Given the description of an element on the screen output the (x, y) to click on. 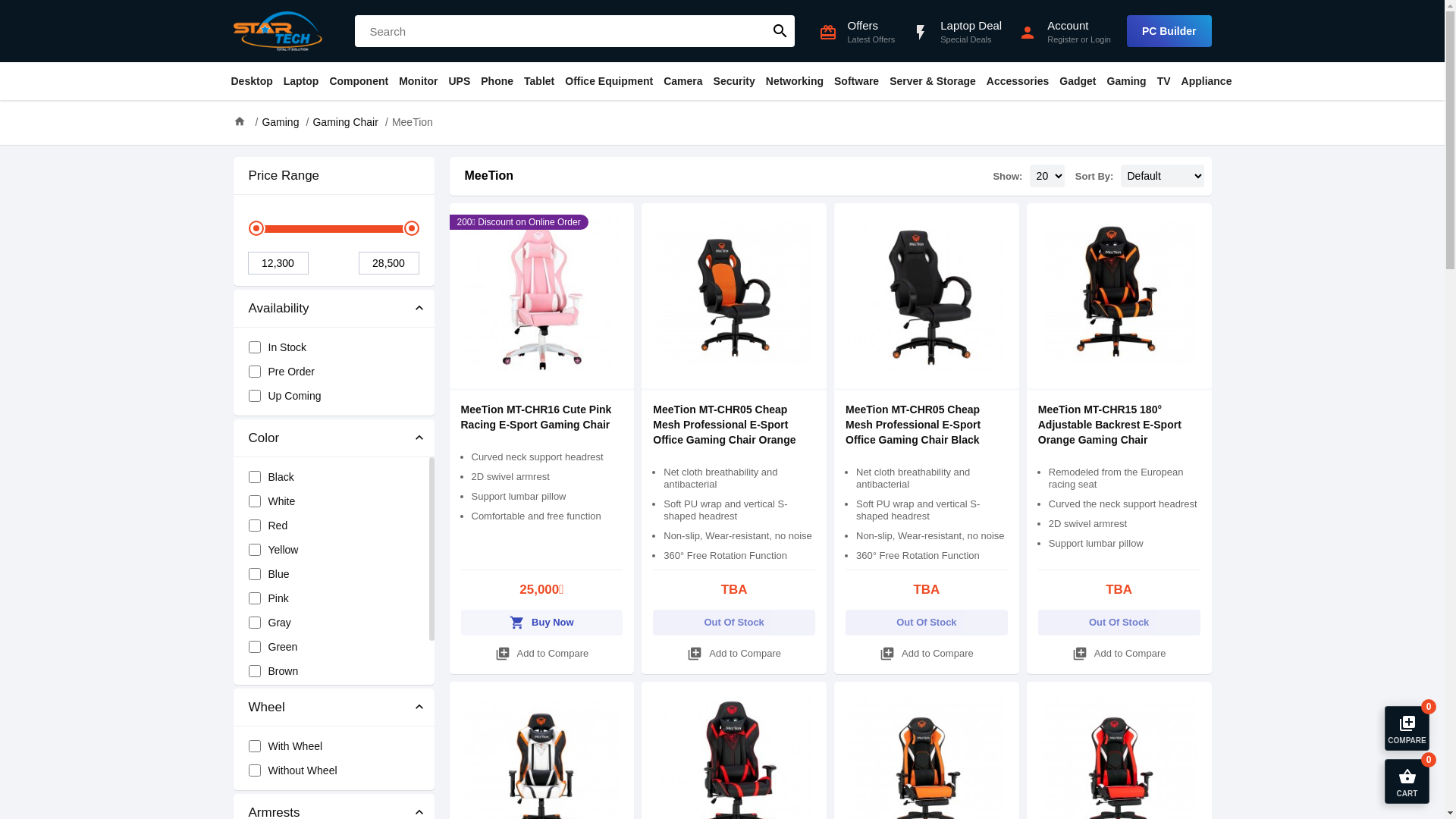
MeeTion MT-CHR16 Cute Pink Racing E-Sport Gaming Chair Element type: text (536, 416)
library_add
Add to Compare Element type: text (926, 653)
Networking Element type: text (794, 81)
library_add
Add to Compare Element type: text (1119, 653)
Accessories Element type: text (1017, 81)
Security Element type: text (734, 81)
Software Element type: text (856, 81)
Account Element type: text (1078, 25)
shopping_cart
Buy Now Element type: text (542, 622)
flash_on
Laptop Deal
Special Deals Element type: text (947, 31)
Star Tech Ltd  Element type: hover (277, 30)
Gadget Element type: text (1077, 81)
Appliance Element type: text (1206, 81)
person Element type: text (1027, 30)
Tablet Element type: text (538, 81)
Server & Storage Element type: text (932, 81)
Laptop Element type: text (301, 81)
Phone Element type: text (496, 81)
Office Equipment Element type: text (608, 81)
search Element type: text (779, 30)
library_add
Add to Compare Element type: text (733, 653)
Component Element type: text (358, 81)
Desktop Element type: text (251, 81)
Gaming Chair Element type: text (344, 122)
MeeTion Element type: text (412, 122)
Camera Element type: text (682, 81)
PC Builder Element type: text (1168, 31)
Register Element type: text (1062, 38)
card_giftcard
Offers
Latest Offers Element type: text (848, 31)
Login Element type: text (1100, 38)
Upper Handle Element type: hover (410, 227)
Gaming Element type: text (1126, 81)
Monitor Element type: text (417, 81)
UPS Element type: text (458, 81)
library_add
Add to Compare Element type: text (542, 653)
Lower Handle Element type: hover (255, 227)
Gaming Element type: text (279, 122)
TV Element type: text (1163, 81)
